Given the description of an element on the screen output the (x, y) to click on. 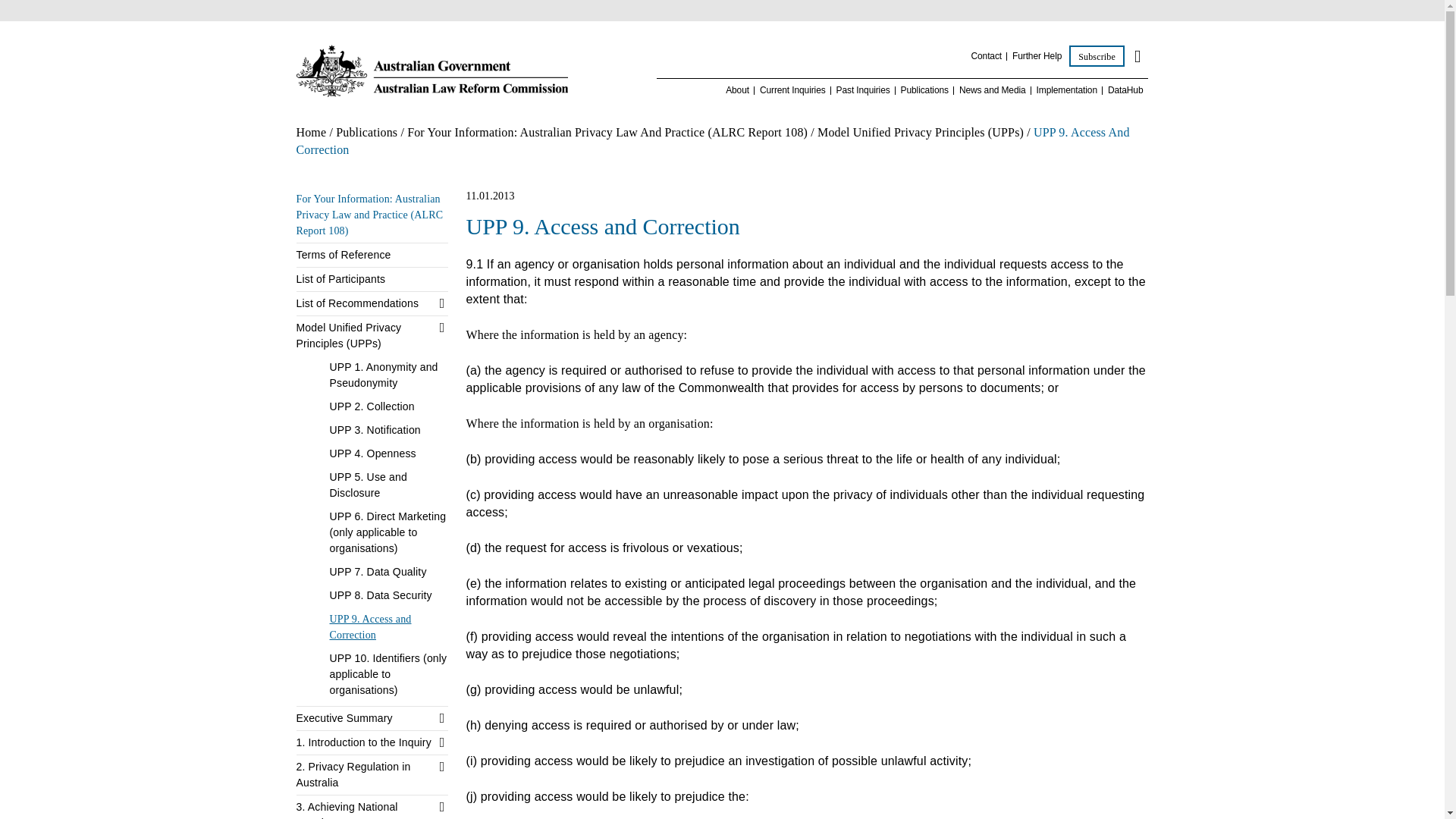
Further help (1036, 56)
About (737, 90)
Publications (925, 90)
Past Inquiries (862, 90)
Australian Law Reform Commission (431, 71)
About (737, 90)
Subscribe (1096, 55)
Contact (986, 56)
Current Inquiries (792, 90)
Current Inquiries (792, 90)
Further Help (1036, 56)
Subscribe (1096, 55)
Contact (986, 56)
Past Inquiries (862, 90)
